Given the description of an element on the screen output the (x, y) to click on. 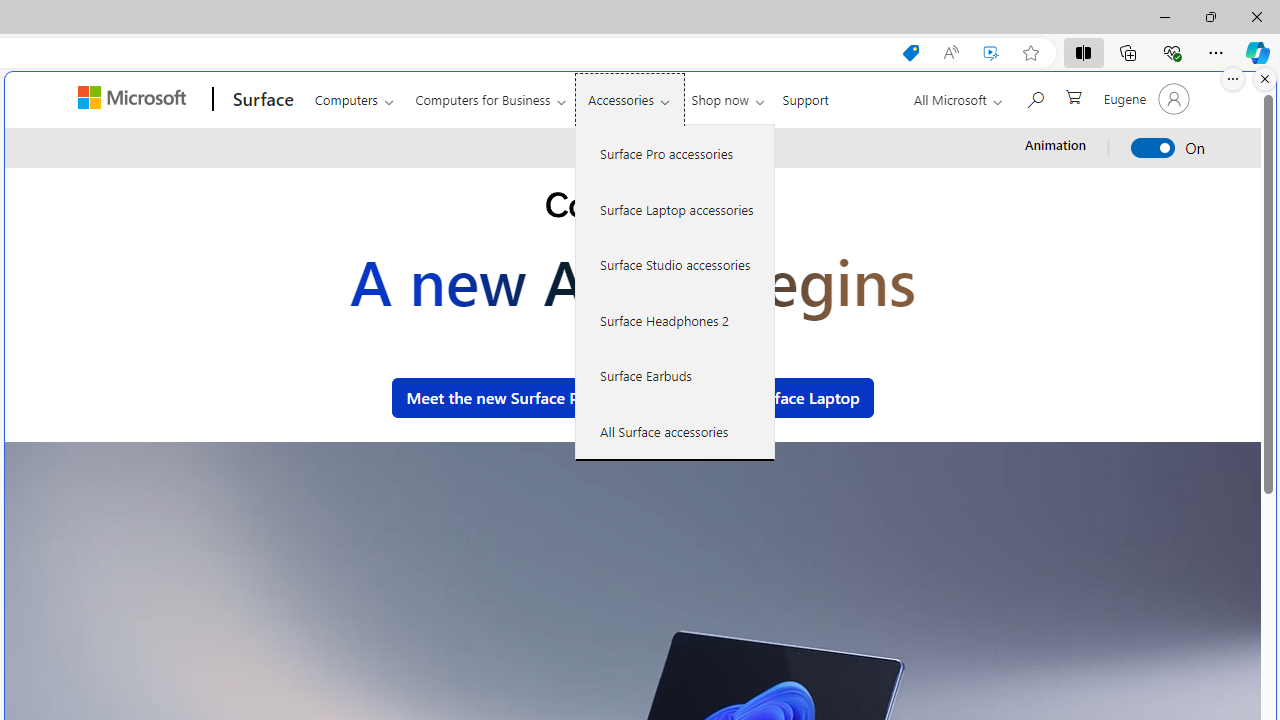
Shopping in Microsoft Edge (910, 53)
